Given the description of an element on the screen output the (x, y) to click on. 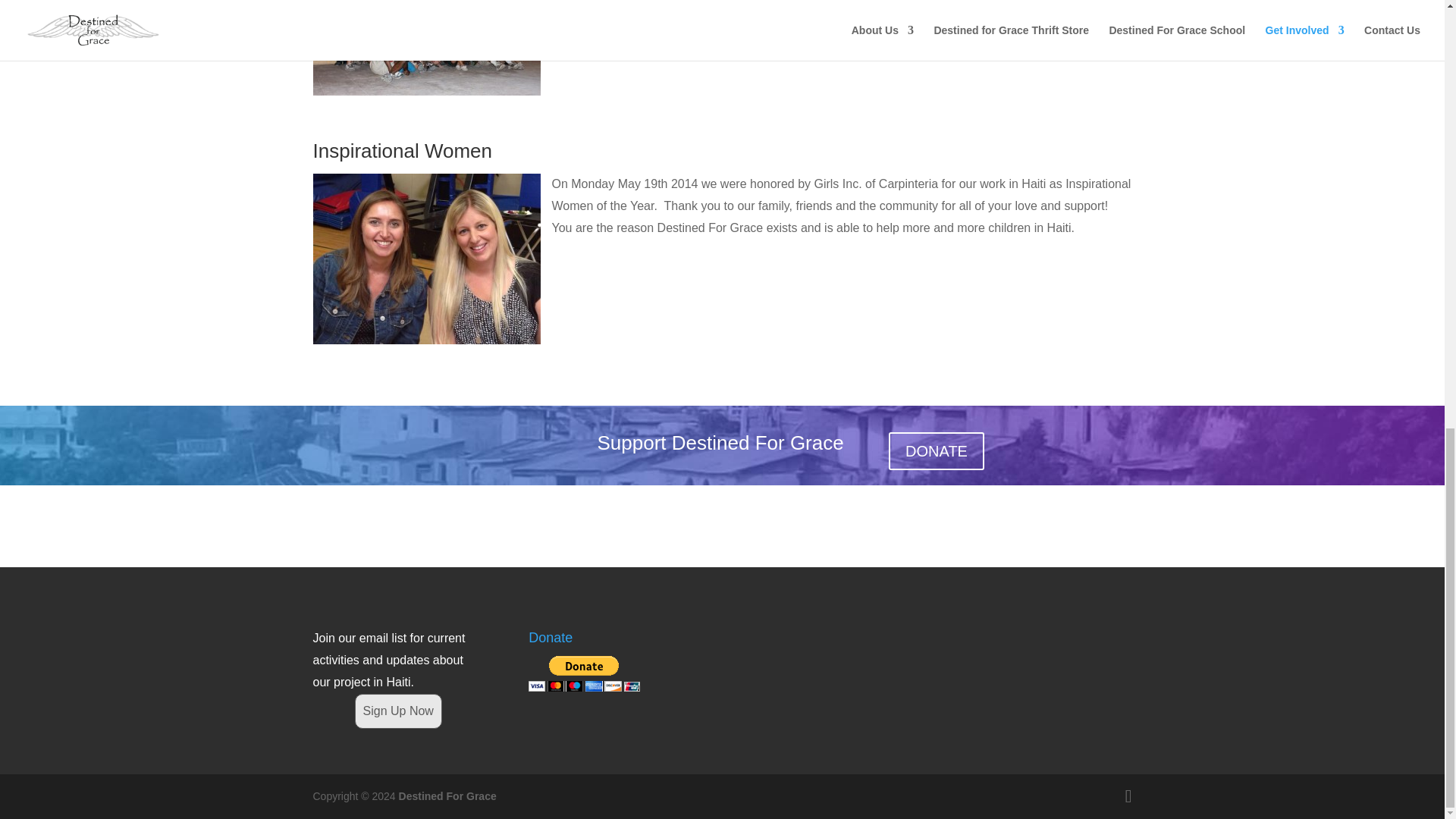
Sign Up Now (398, 711)
Destined For Grace (447, 796)
DONATE (936, 451)
